Given the description of an element on the screen output the (x, y) to click on. 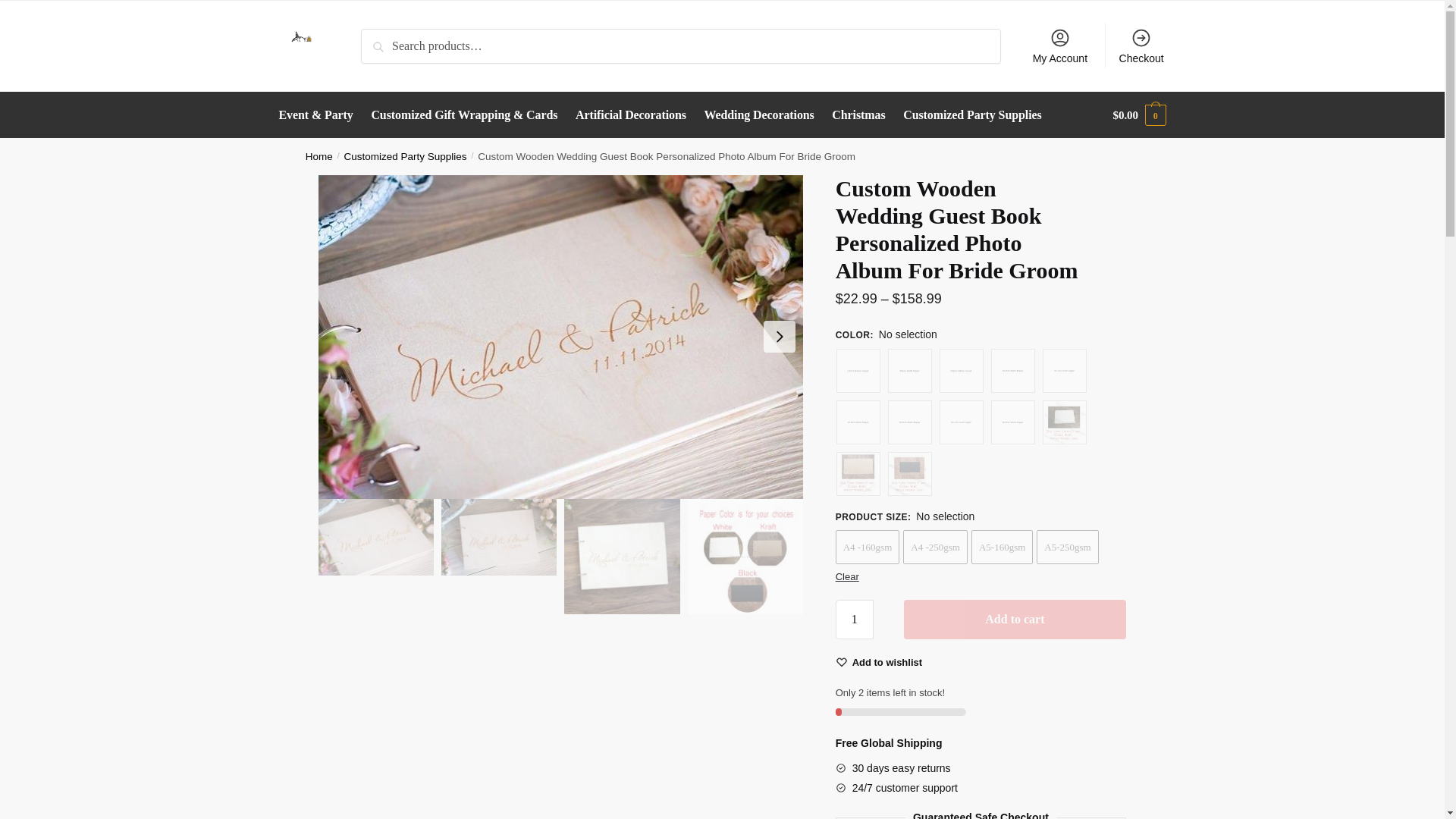
Customized Party Supplies (405, 156)
Christmas (858, 115)
View your shopping cart (1139, 115)
Home (319, 156)
Wedding Decorations (759, 115)
Checkout (1141, 45)
My Account (1059, 45)
1 (854, 619)
Customized Party Supplies (972, 115)
Artificial Decorations (631, 115)
